Given the description of an element on the screen output the (x, y) to click on. 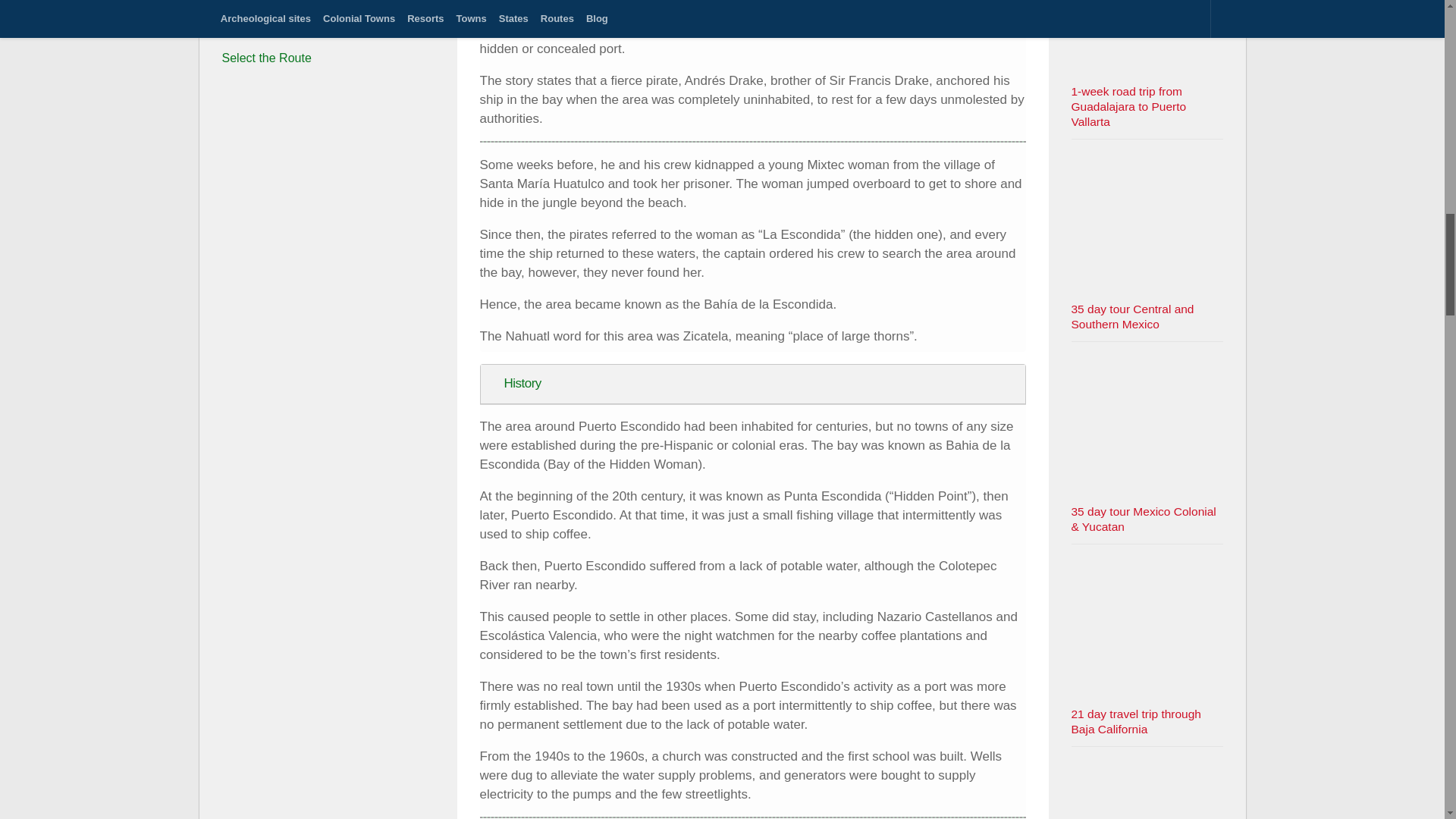
Permalink to 21 day travel trip through Baja California (1134, 721)
Permalink to 35 day tour Central and Southern Mexico (1131, 316)
History (752, 383)
